Given the description of an element on the screen output the (x, y) to click on. 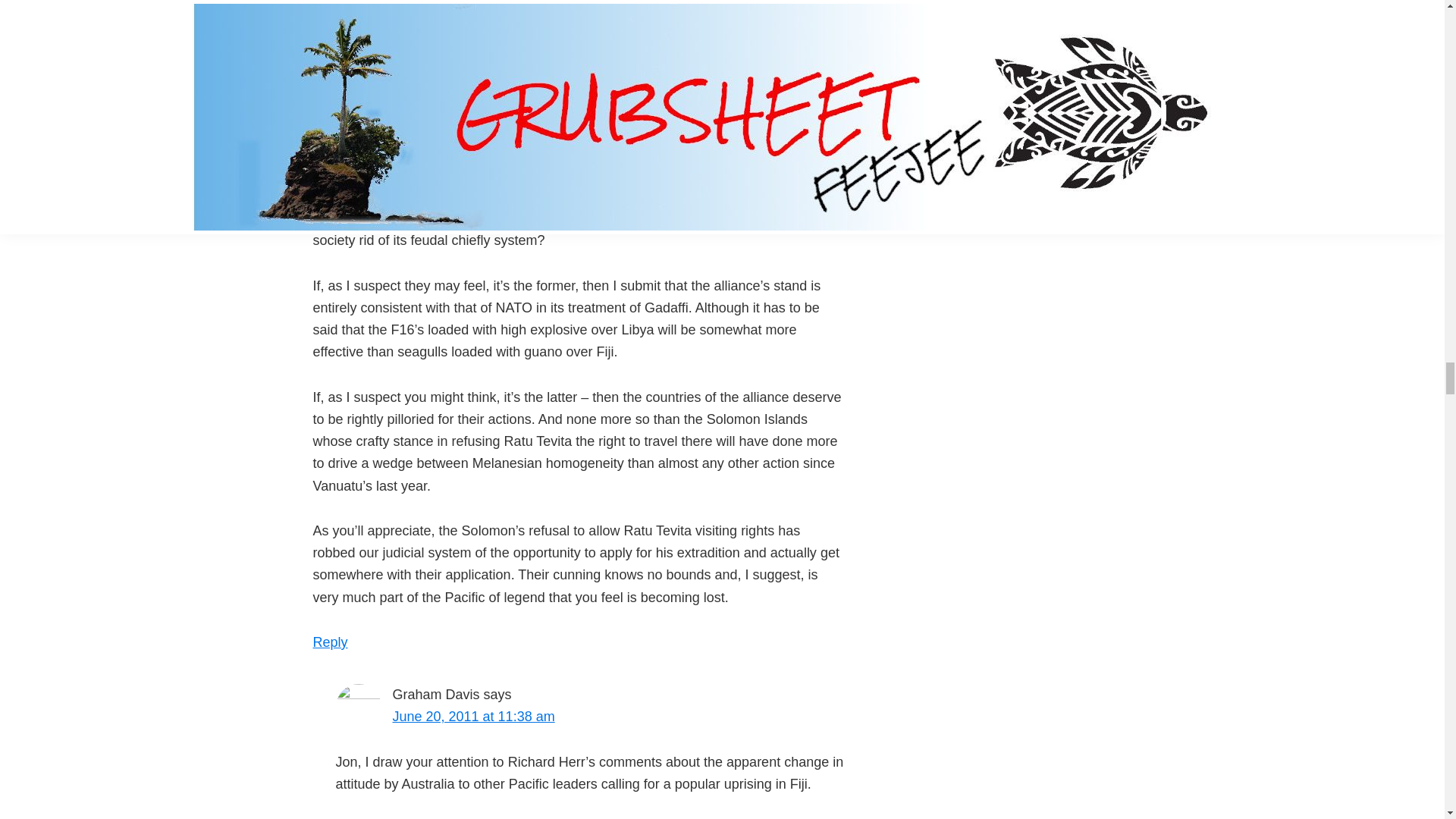
June 20, 2011 at 11:38 am (473, 716)
June 20, 2011 at 11:14 am (450, 1)
Reply (330, 642)
